Given the description of an element on the screen output the (x, y) to click on. 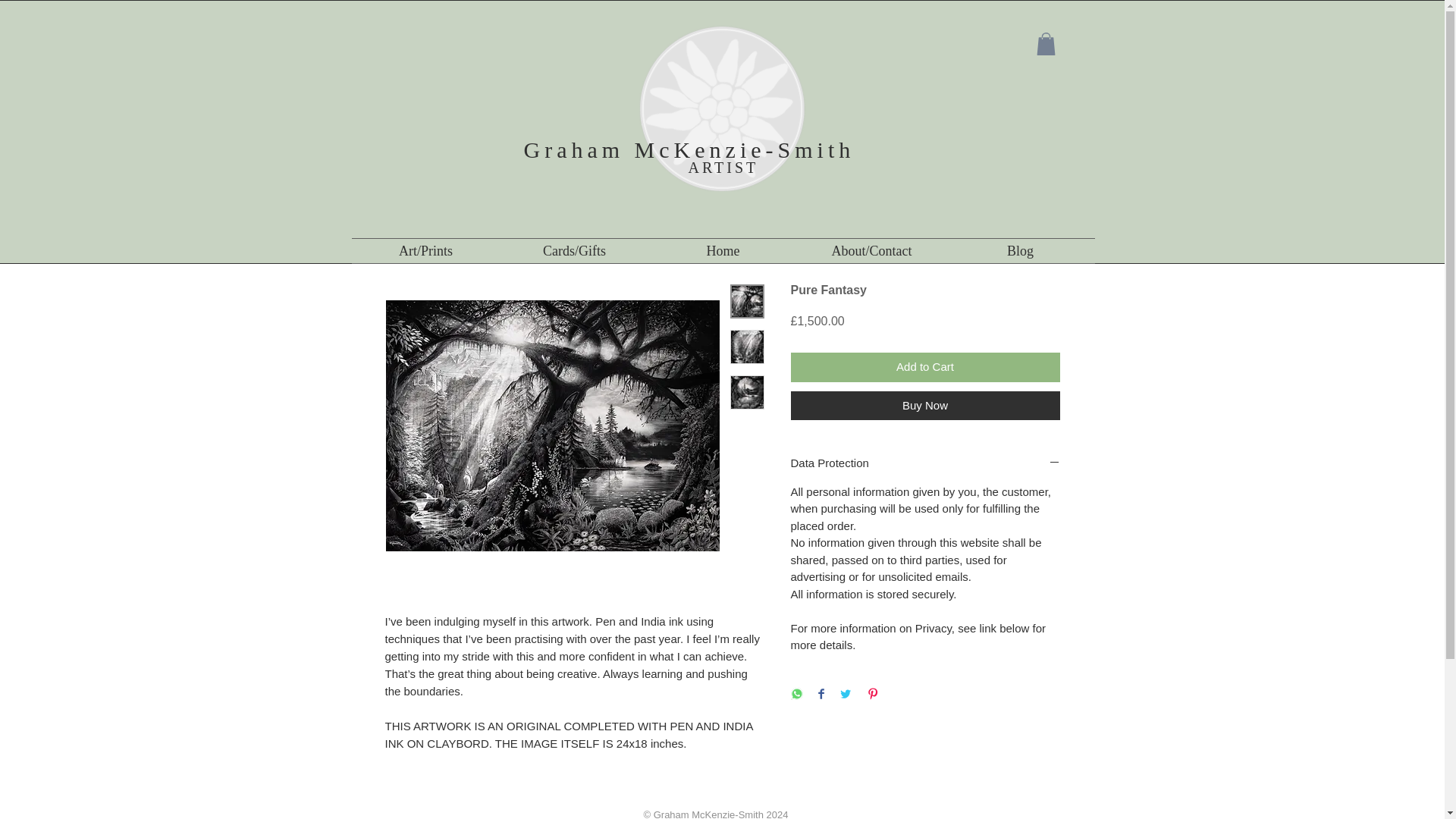
Buy Now (924, 405)
Blog (1020, 250)
Data Protection (924, 463)
Home (723, 250)
Add to Cart (924, 367)
